Given the description of an element on the screen output the (x, y) to click on. 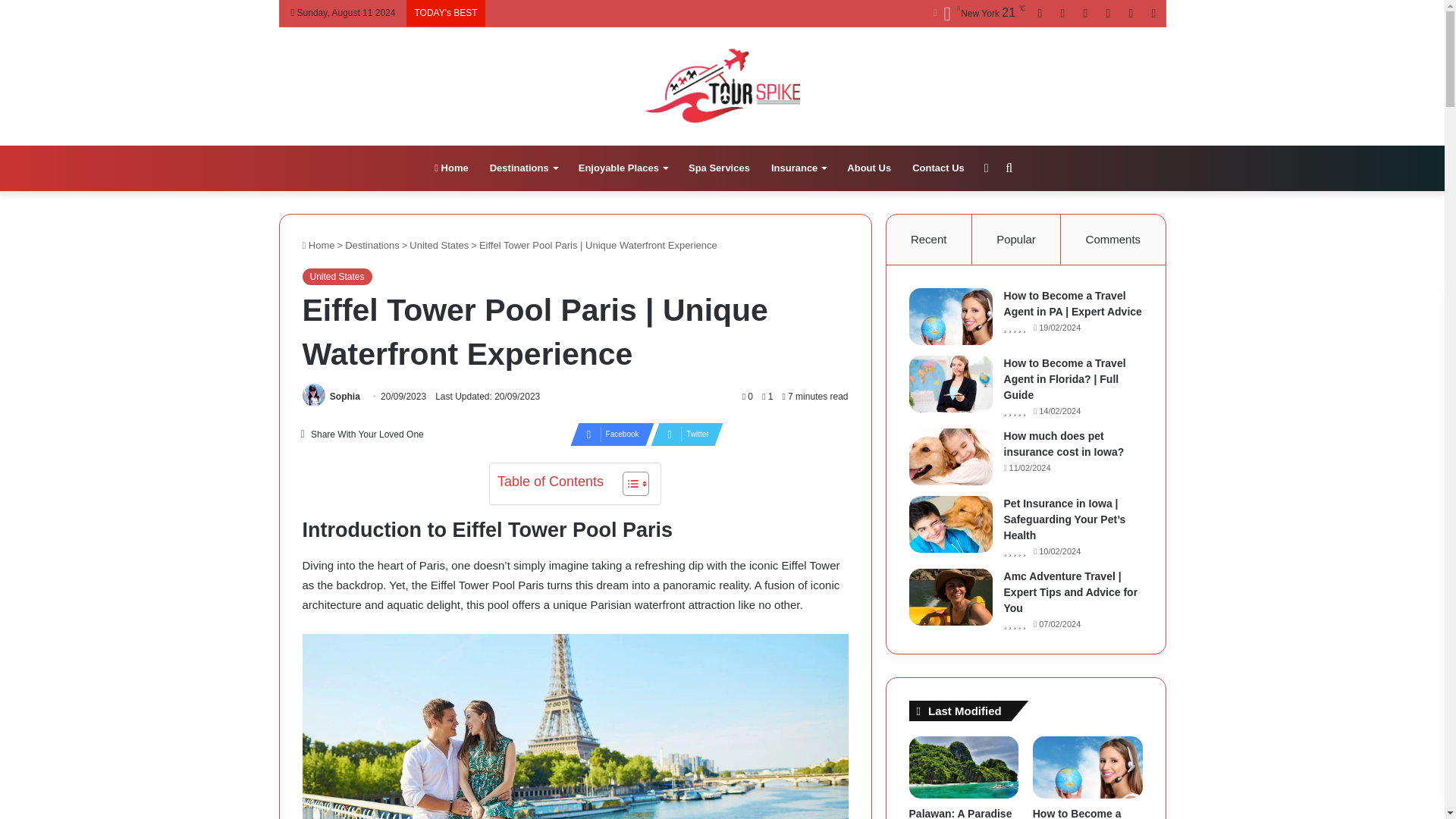
Tour Spike (722, 85)
Enjoyable Places (622, 167)
Home (451, 167)
Destinations (523, 167)
Scattered Clouds (979, 13)
Twitter (682, 434)
Insurance (797, 167)
Spa Services (719, 167)
Facebook (607, 434)
Sophia (344, 396)
